Given the description of an element on the screen output the (x, y) to click on. 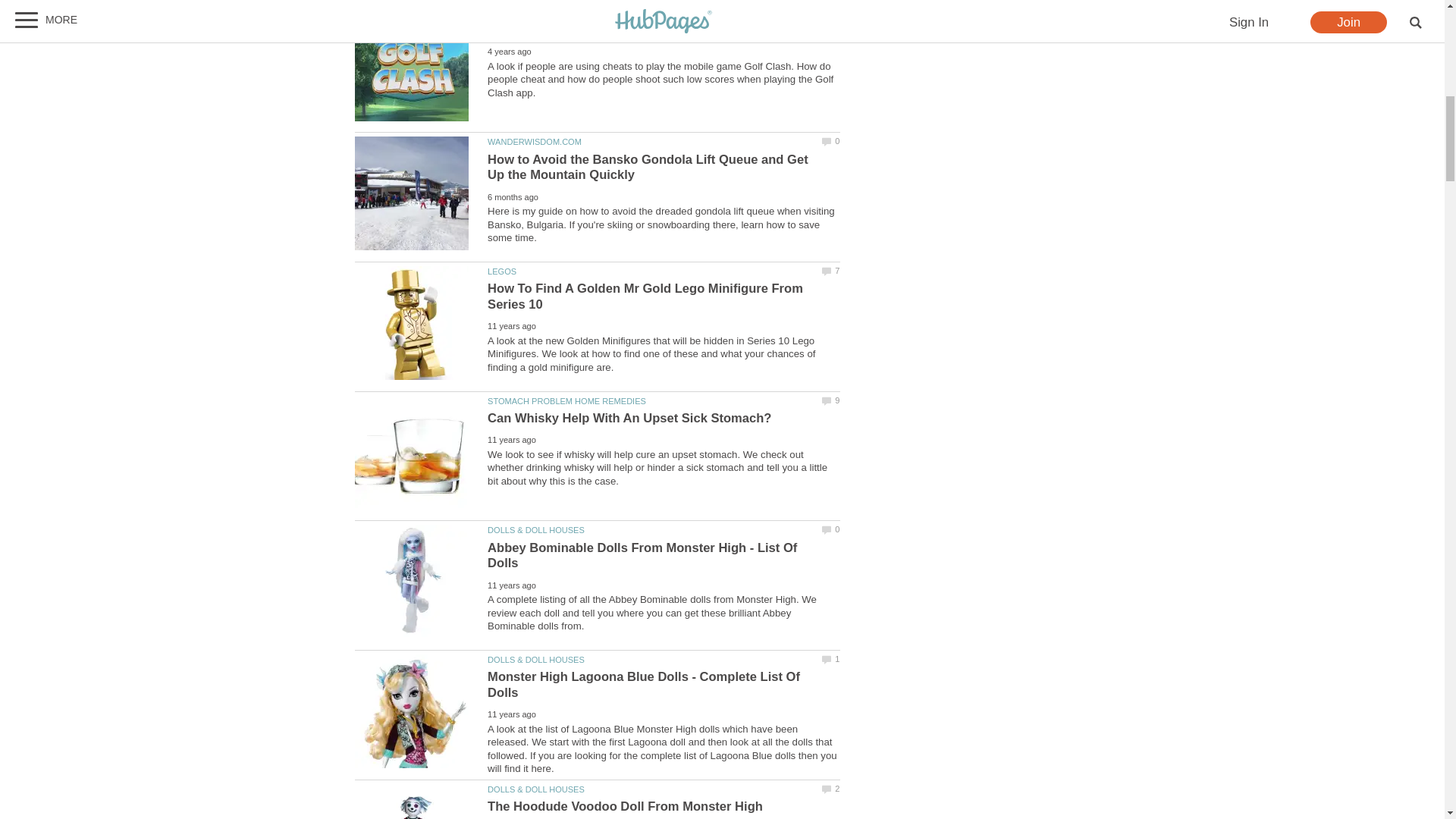
How To Find A Golden Mr Gold Lego Minifigure From Series 10 (411, 323)
Can Whisky Help With An Upset Sick Stomach? (411, 452)
How Do People Cheat On Golf Clash? (411, 64)
